Given the description of an element on the screen output the (x, y) to click on. 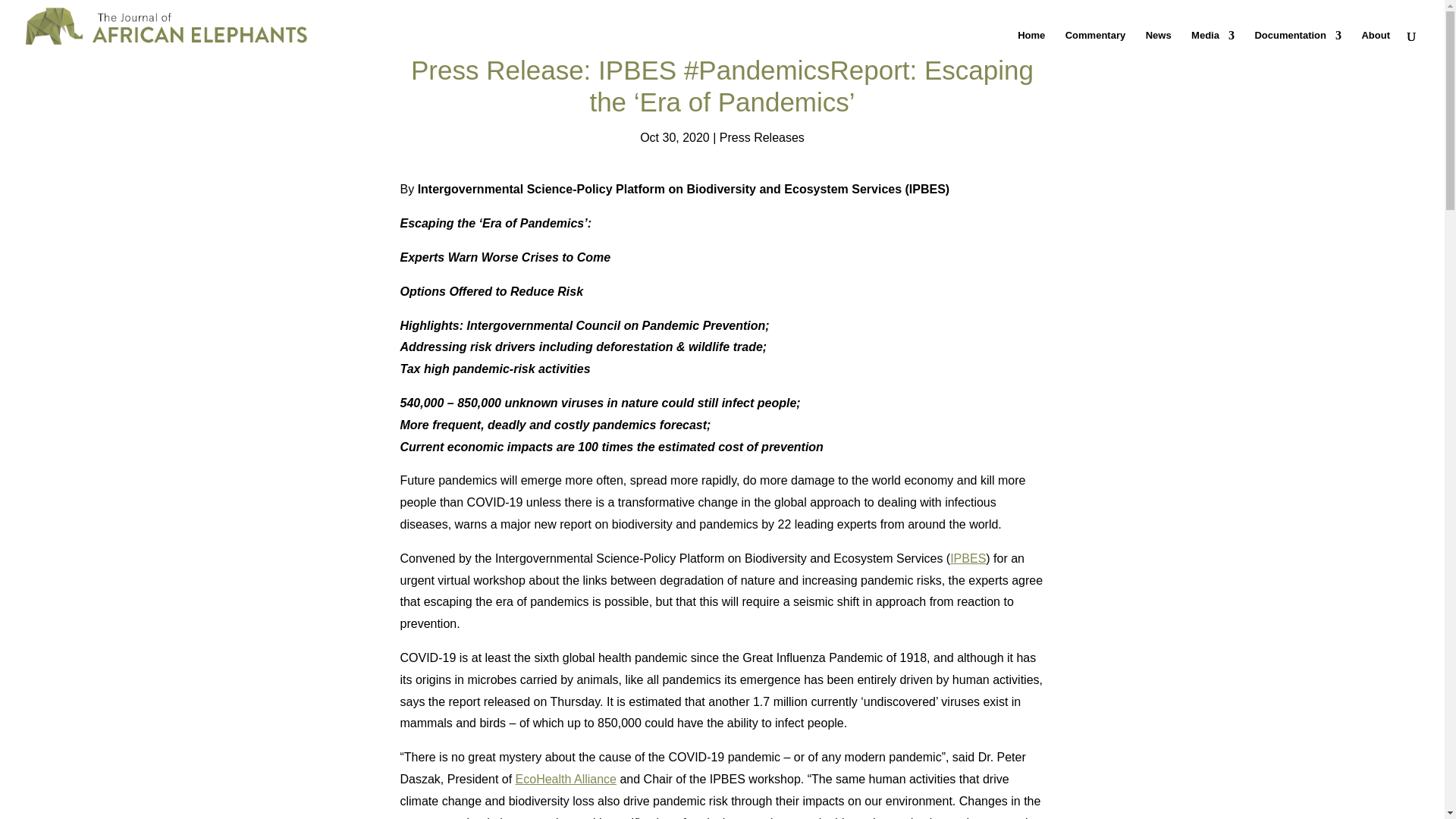
IPBES (967, 558)
Commentary (1095, 41)
News (1158, 41)
Home (1031, 41)
About (1375, 41)
Documentation (1296, 41)
EcoHealth Alliance (565, 779)
Press Releases (762, 137)
Media (1212, 41)
